Given the description of an element on the screen output the (x, y) to click on. 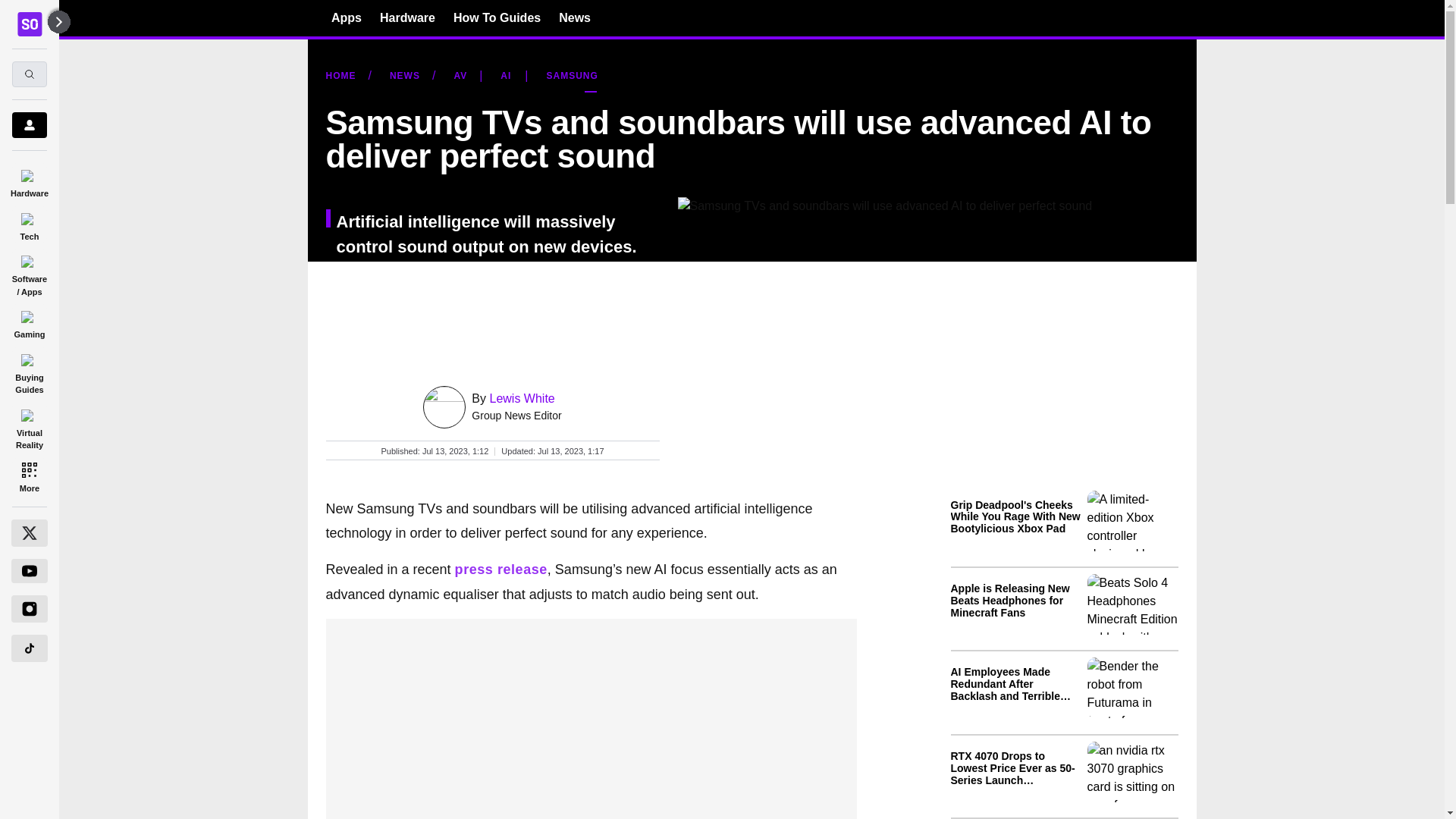
How To Guides (496, 18)
Gaming (28, 322)
Tech (28, 224)
Hardware (407, 18)
Hardware (28, 180)
More (28, 476)
News (575, 18)
Apps (346, 18)
